Given the description of an element on the screen output the (x, y) to click on. 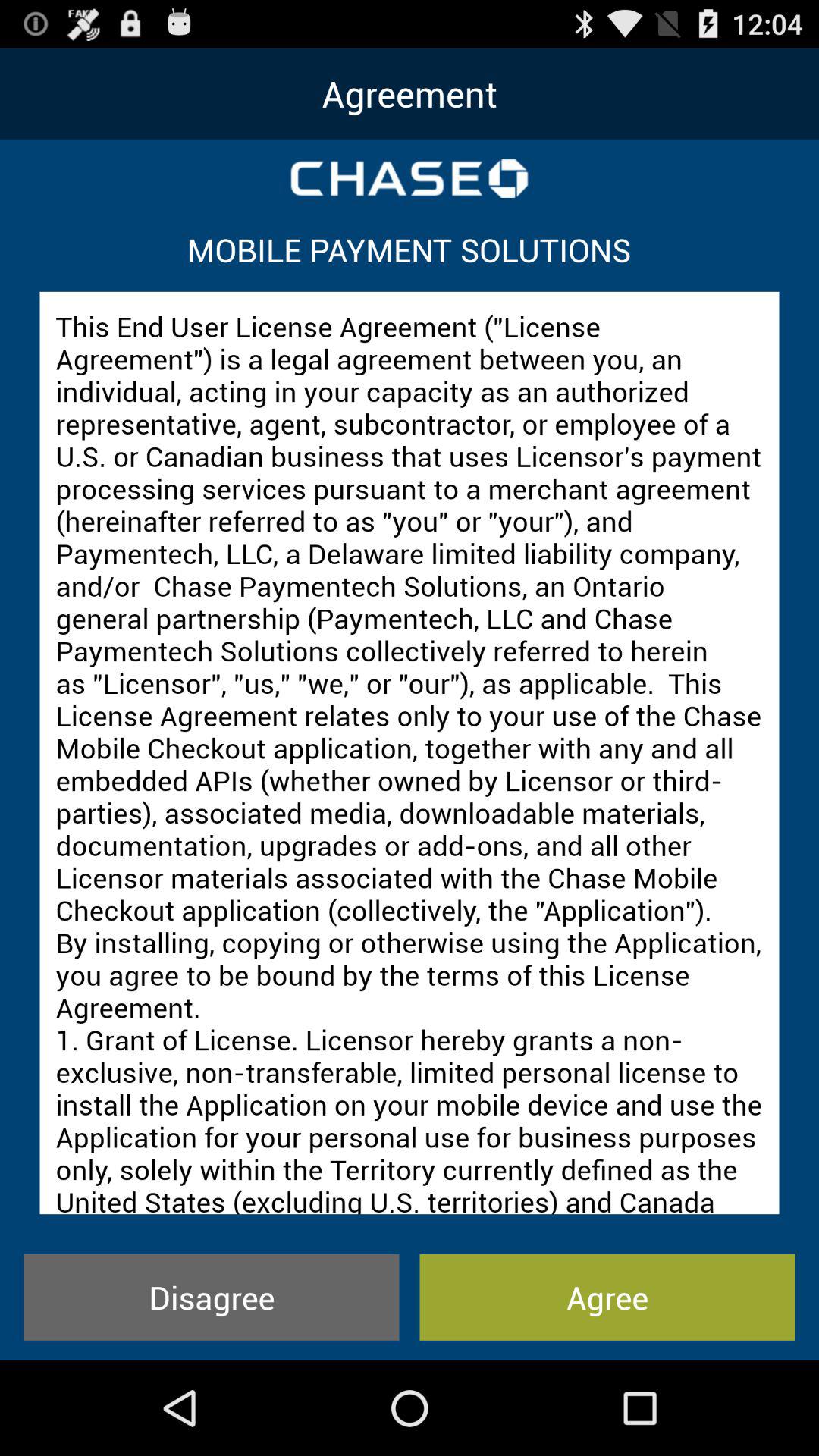
tap the item to the right of the disagree item (607, 1297)
